Given the description of an element on the screen output the (x, y) to click on. 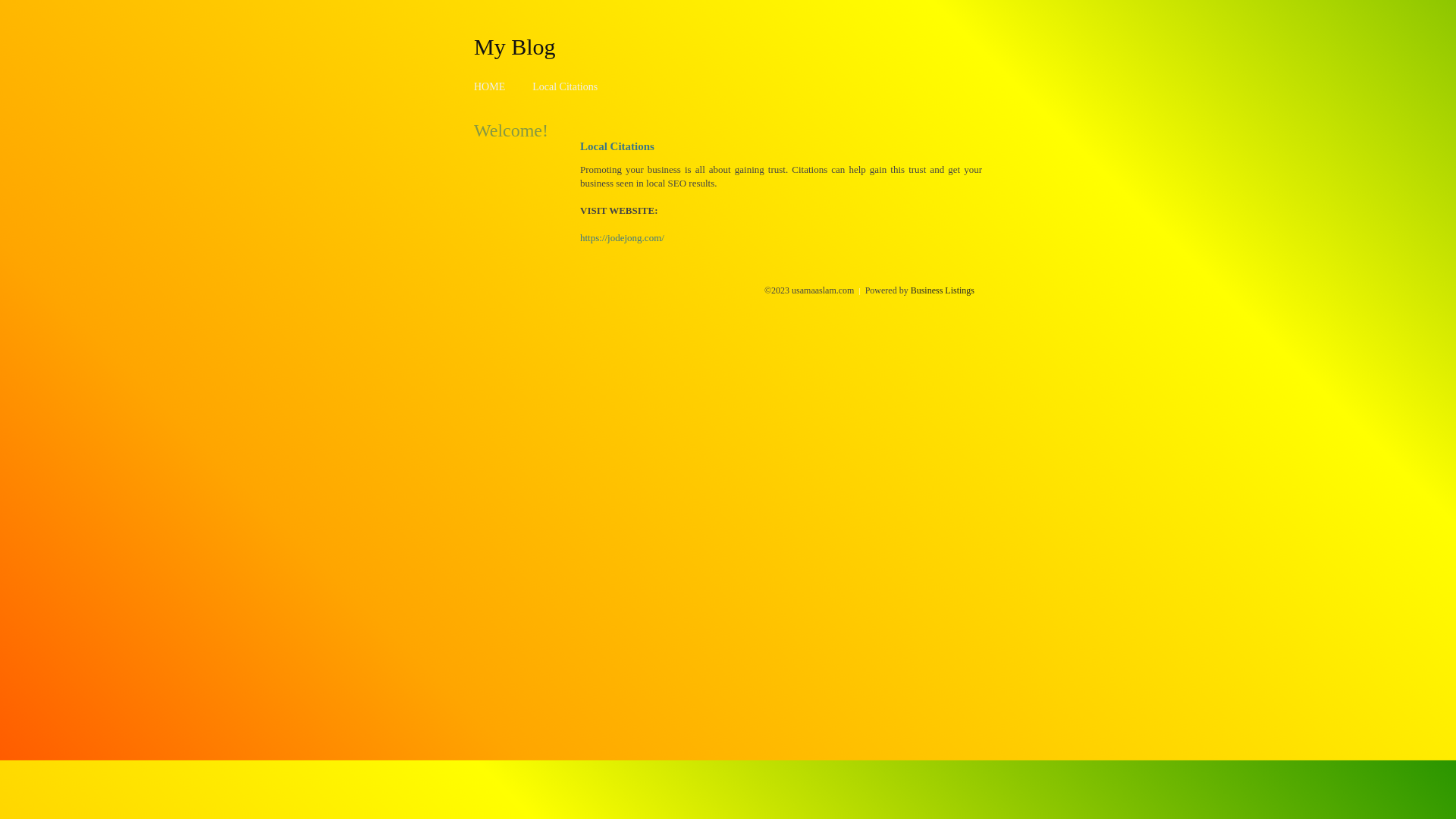
HOME Element type: text (489, 86)
My Blog Element type: text (514, 46)
Local Citations Element type: text (564, 86)
Business Listings Element type: text (942, 290)
https://jodejong.com/ Element type: text (622, 237)
